Given the description of an element on the screen output the (x, y) to click on. 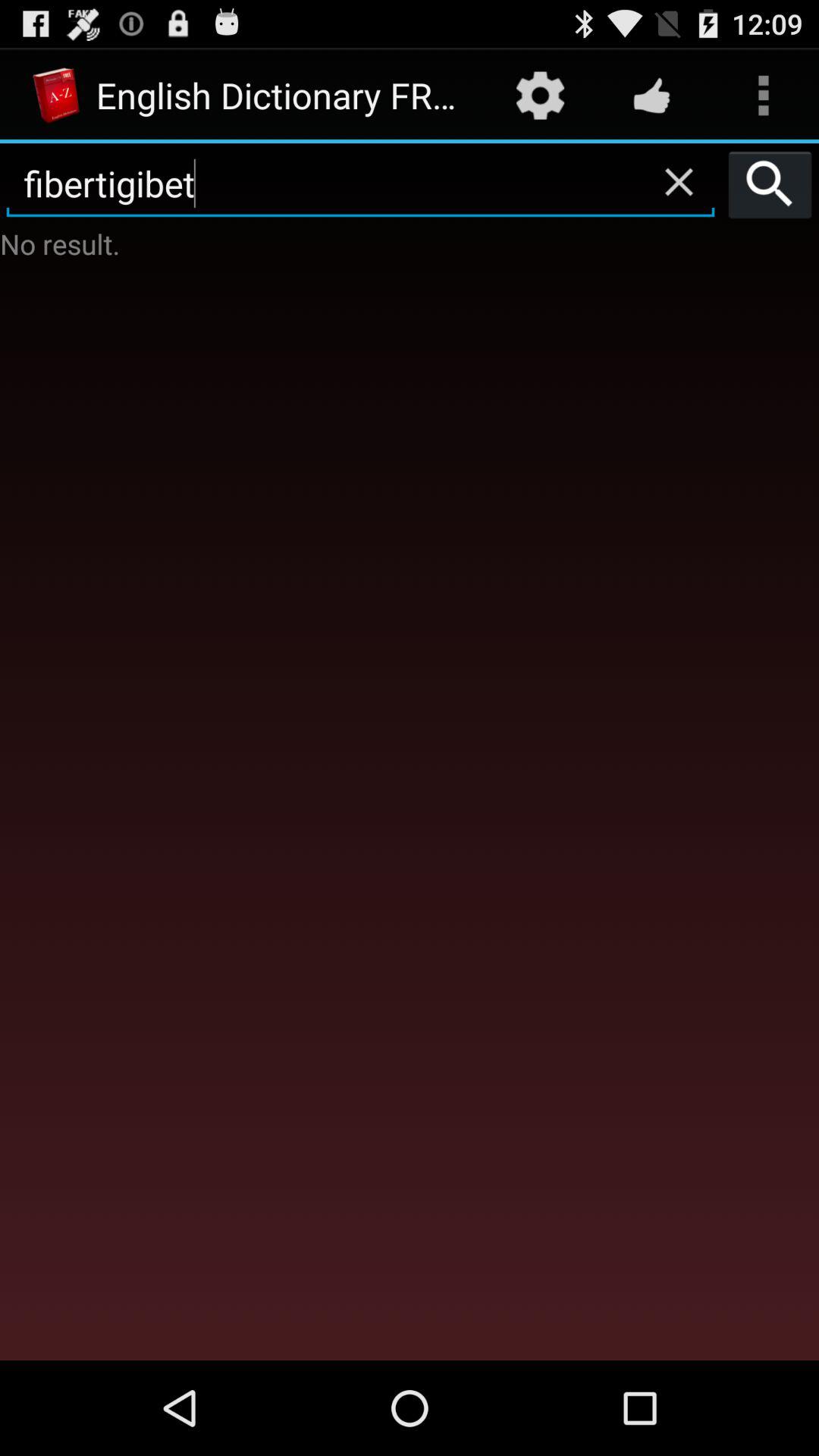
swipe to fibertigibet item (360, 184)
